Given the description of an element on the screen output the (x, y) to click on. 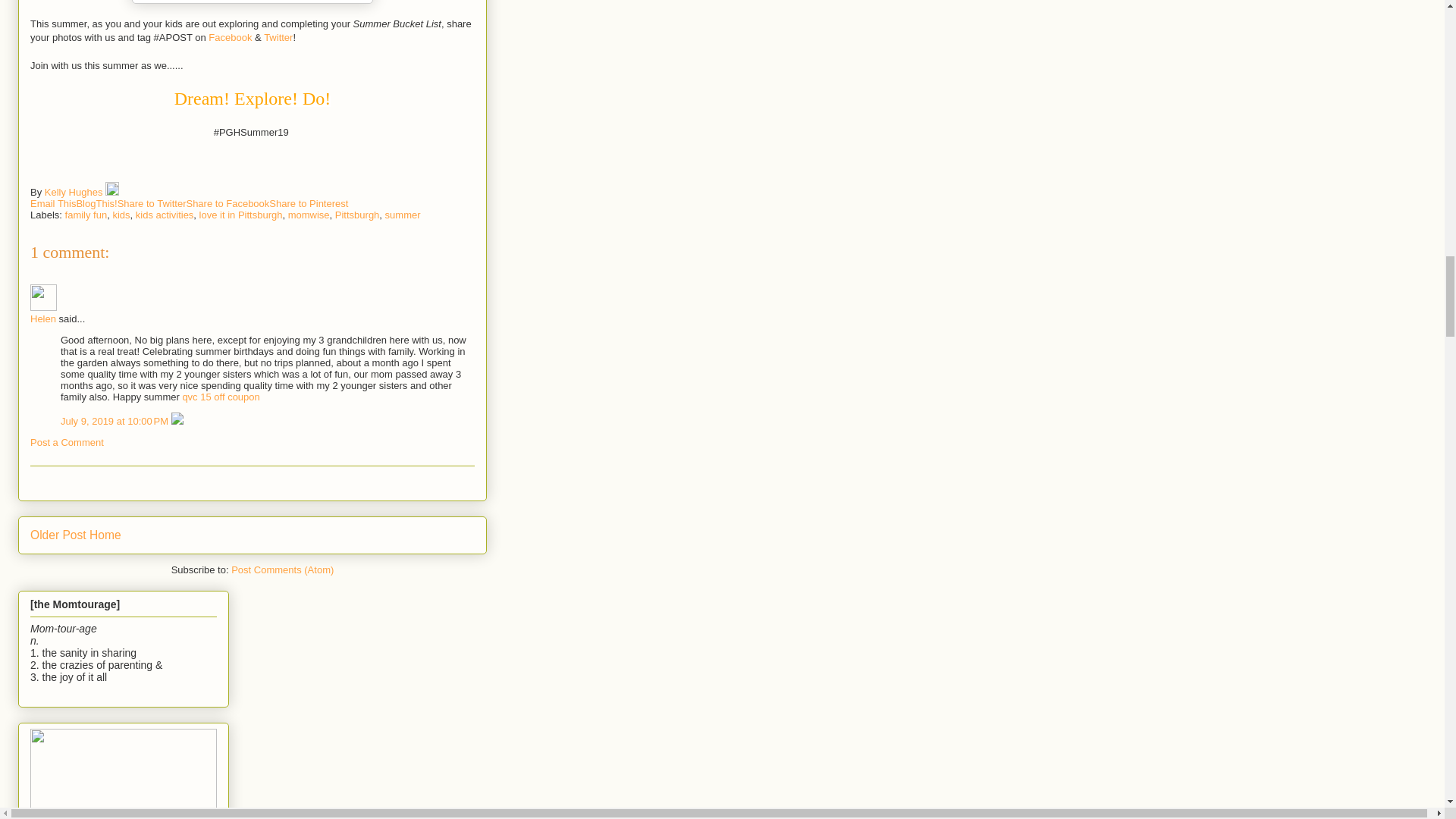
Delete Comment (177, 420)
Pittsburgh (357, 214)
Share to Twitter (151, 203)
Facebook (229, 37)
love it in Pittsburgh (240, 214)
summer (402, 214)
Twitter (277, 37)
Older Post (57, 534)
Share to Twitter (151, 203)
qvc 15 off coupon (220, 396)
kids (120, 214)
Email This (52, 203)
BlogThis! (95, 203)
Helen (43, 297)
